Given the description of an element on the screen output the (x, y) to click on. 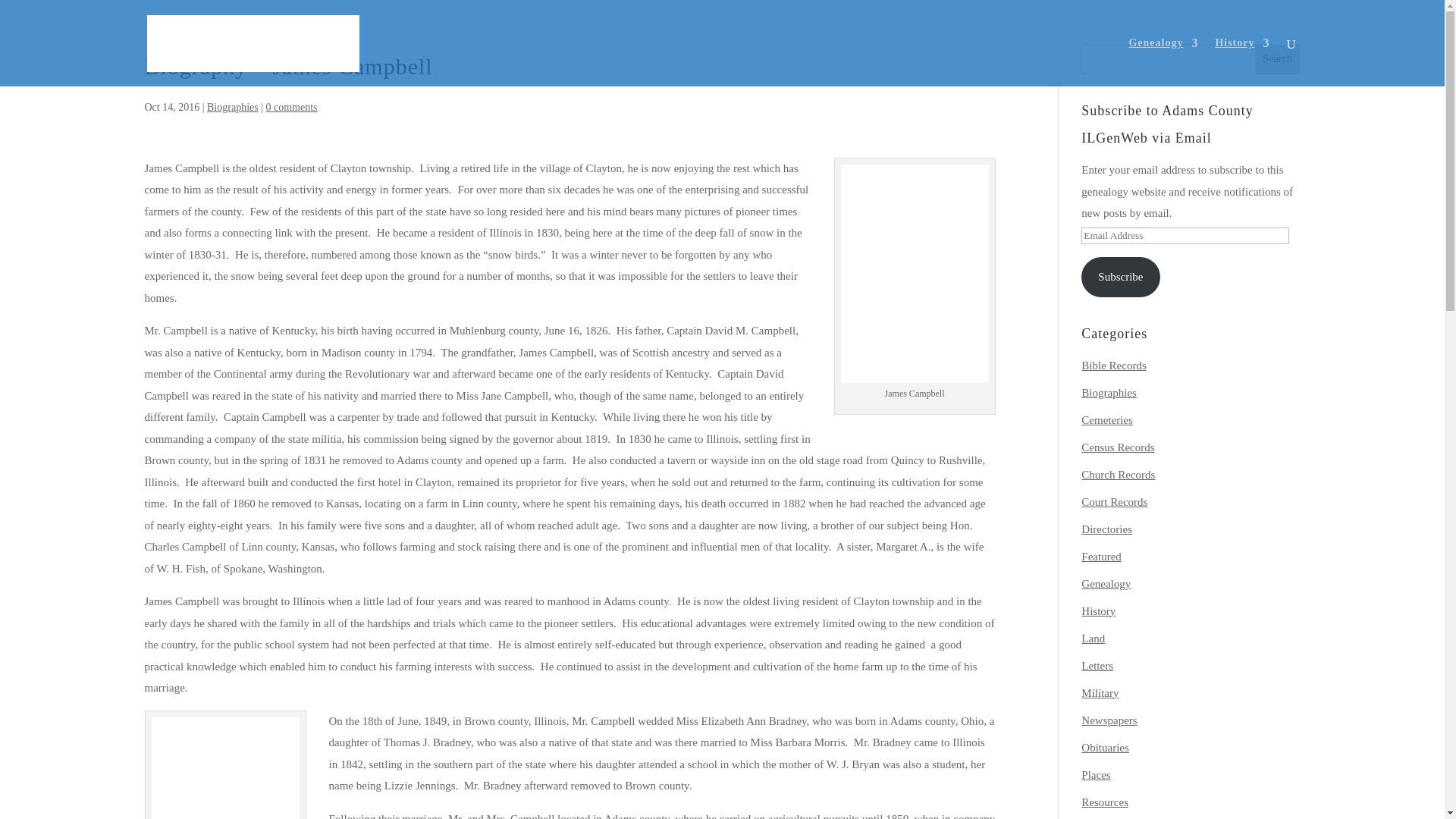
Search (1277, 59)
Genealogy (1106, 583)
Census Records (1117, 447)
Church Records (1117, 474)
Letters (1097, 665)
Court Records (1114, 501)
Biographies (1109, 392)
Biographies (232, 107)
History (1098, 611)
History (1241, 61)
Subscribe (1119, 277)
Featured (1101, 556)
Cemeteries (1106, 419)
0 comments (290, 107)
Genealogy (1163, 61)
